Given the description of an element on the screen output the (x, y) to click on. 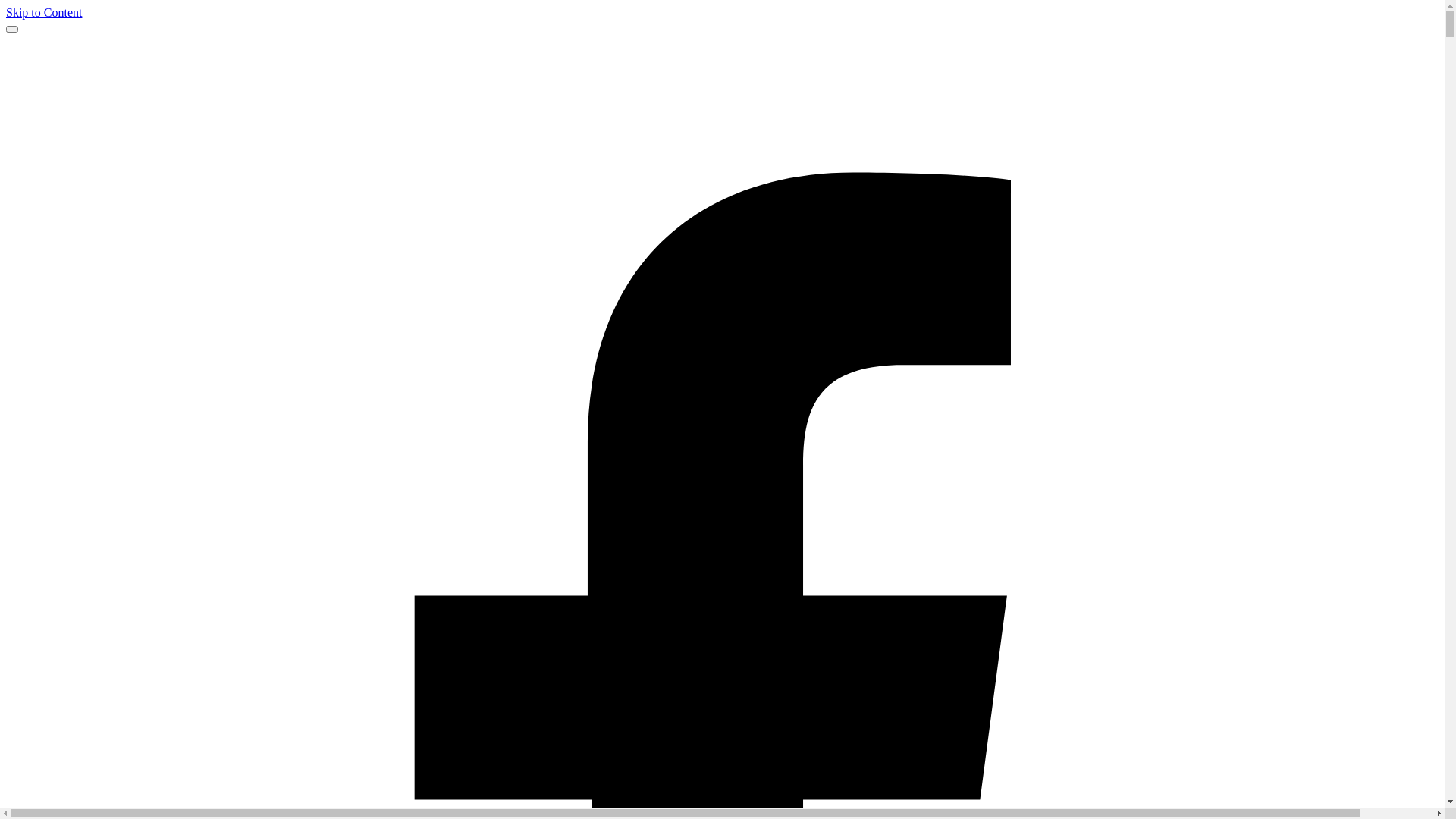
Skip to Content Element type: text (43, 12)
